Given the description of an element on the screen output the (x, y) to click on. 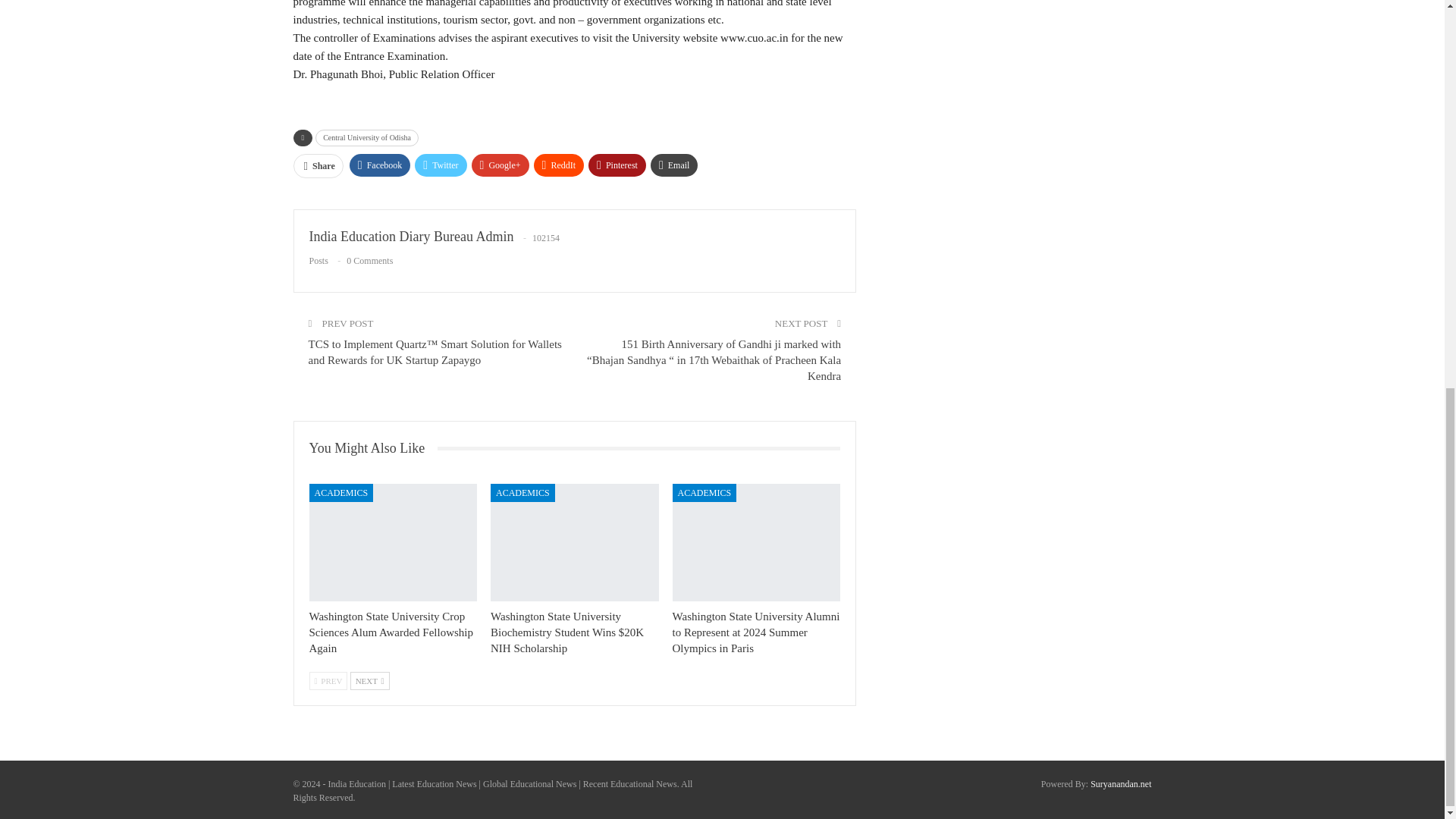
Next (370, 680)
Previous (327, 680)
